Given the description of an element on the screen output the (x, y) to click on. 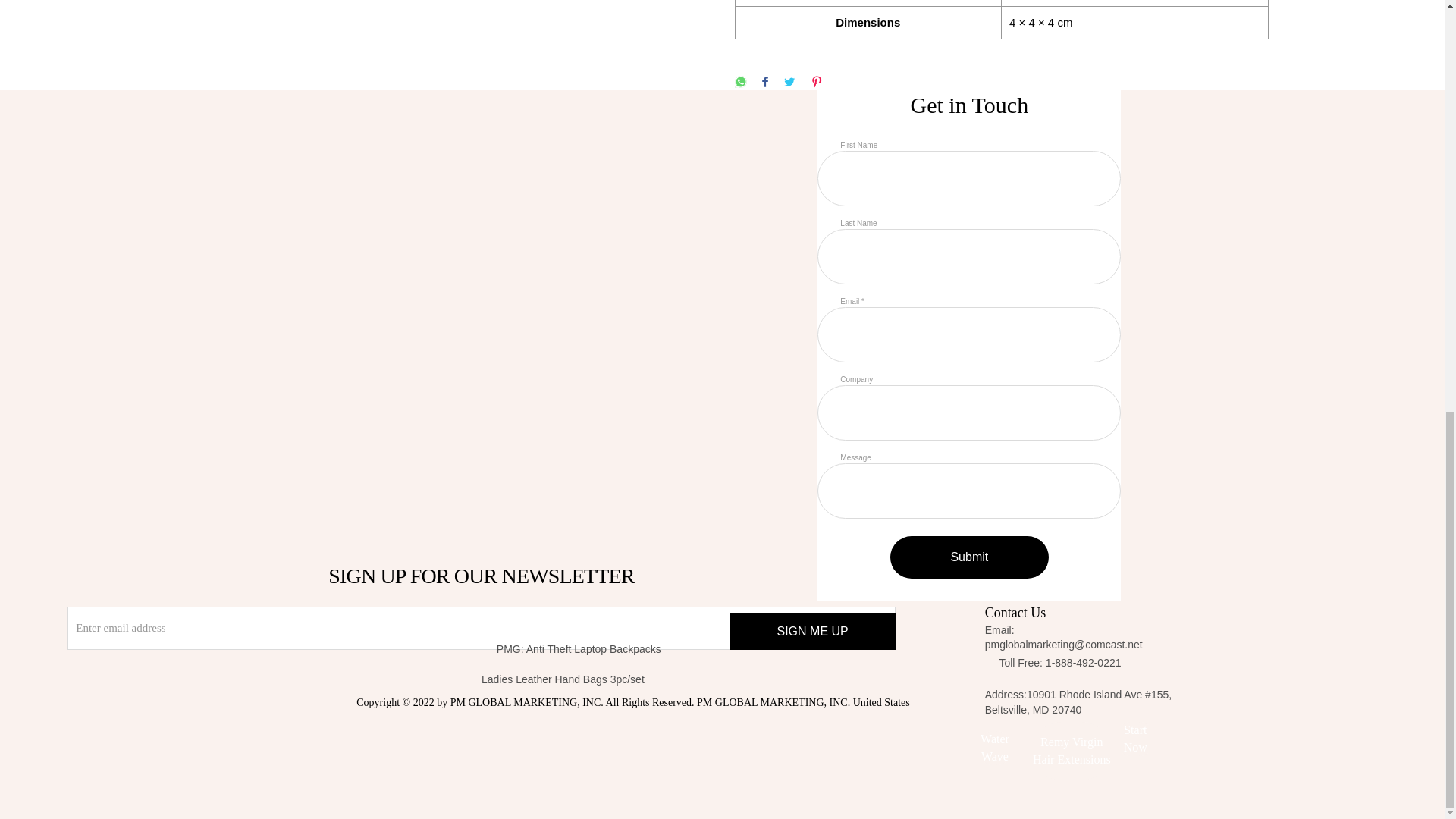
PMG: Anti Theft Laptop Backpacks (622, 649)
SIGN ME UP (812, 631)
Submit (968, 557)
